Given the description of an element on the screen output the (x, y) to click on. 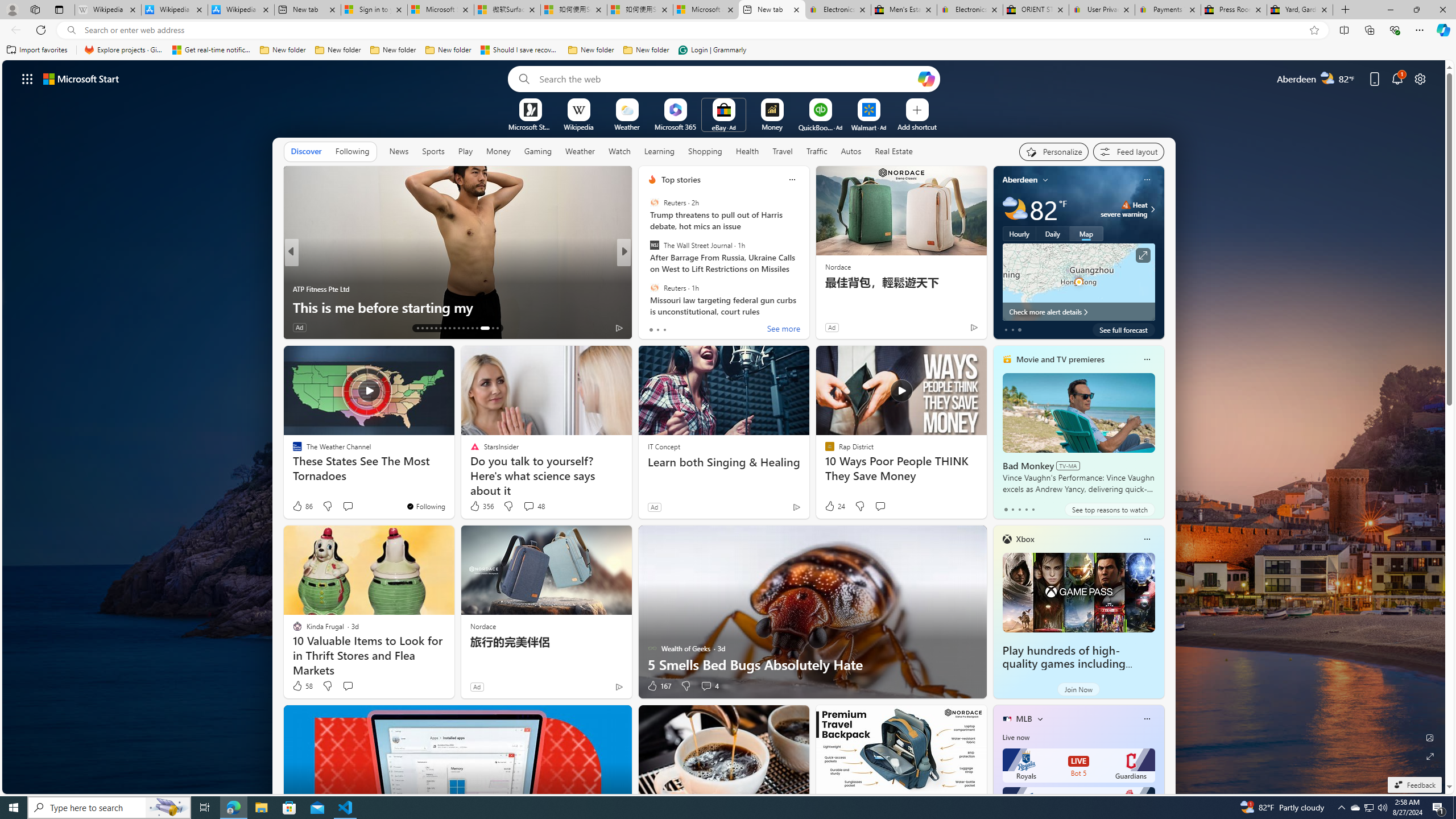
AutomationID: tab-15 (426, 328)
You're following Newsweek (253, 329)
Join Now (1078, 689)
